Given the description of an element on the screen output the (x, y) to click on. 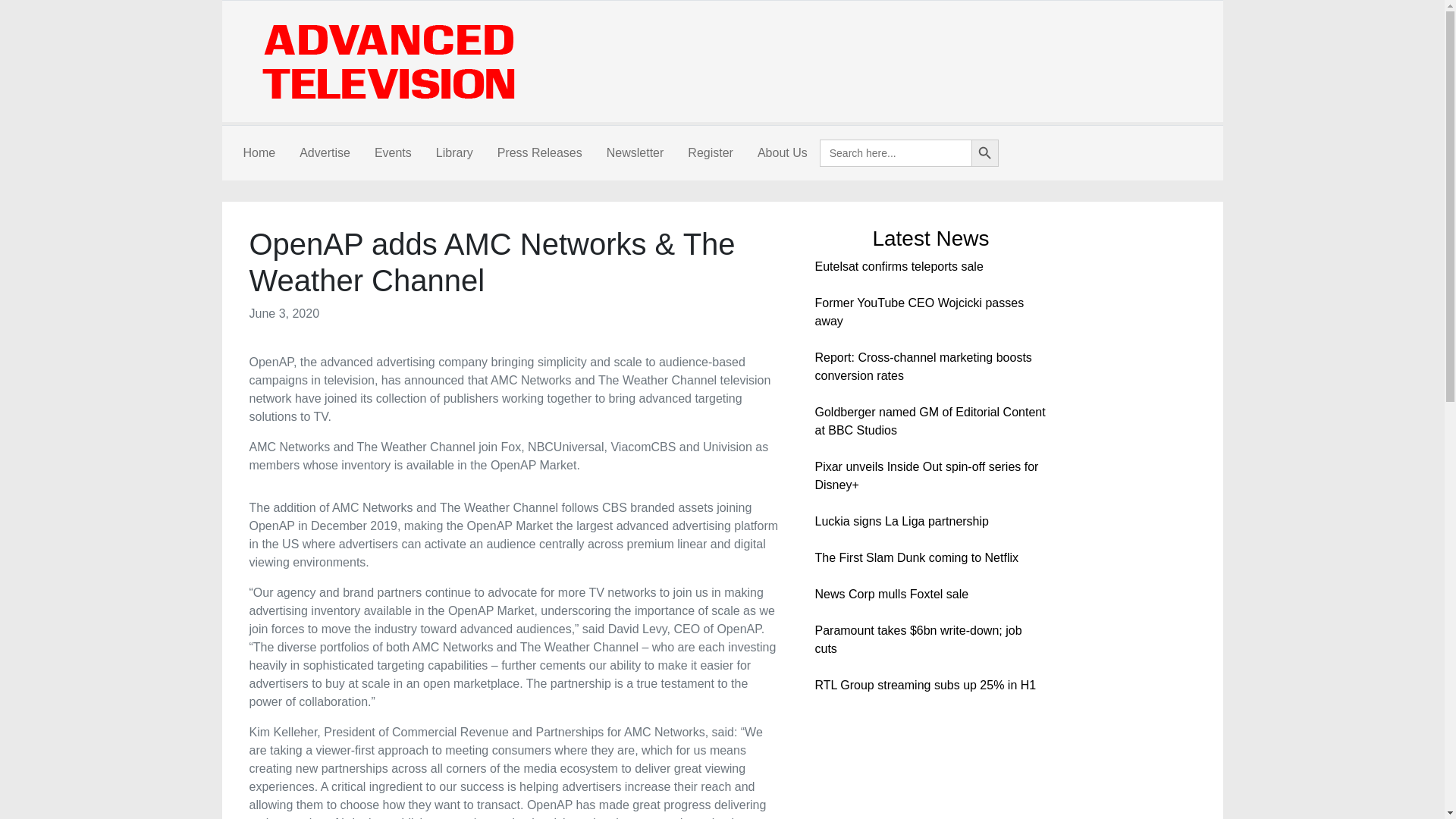
Press Releases (539, 153)
Register (710, 153)
Advertise (324, 153)
Report: Cross-channel marketing boosts conversion rates (921, 366)
News Corp mulls Foxtel sale (890, 594)
Newsletter (635, 153)
Former YouTube CEO Wojcicki passes away (918, 311)
Luckia signs La Liga partnership (900, 521)
Home (258, 153)
Events (392, 153)
